Given the description of an element on the screen output the (x, y) to click on. 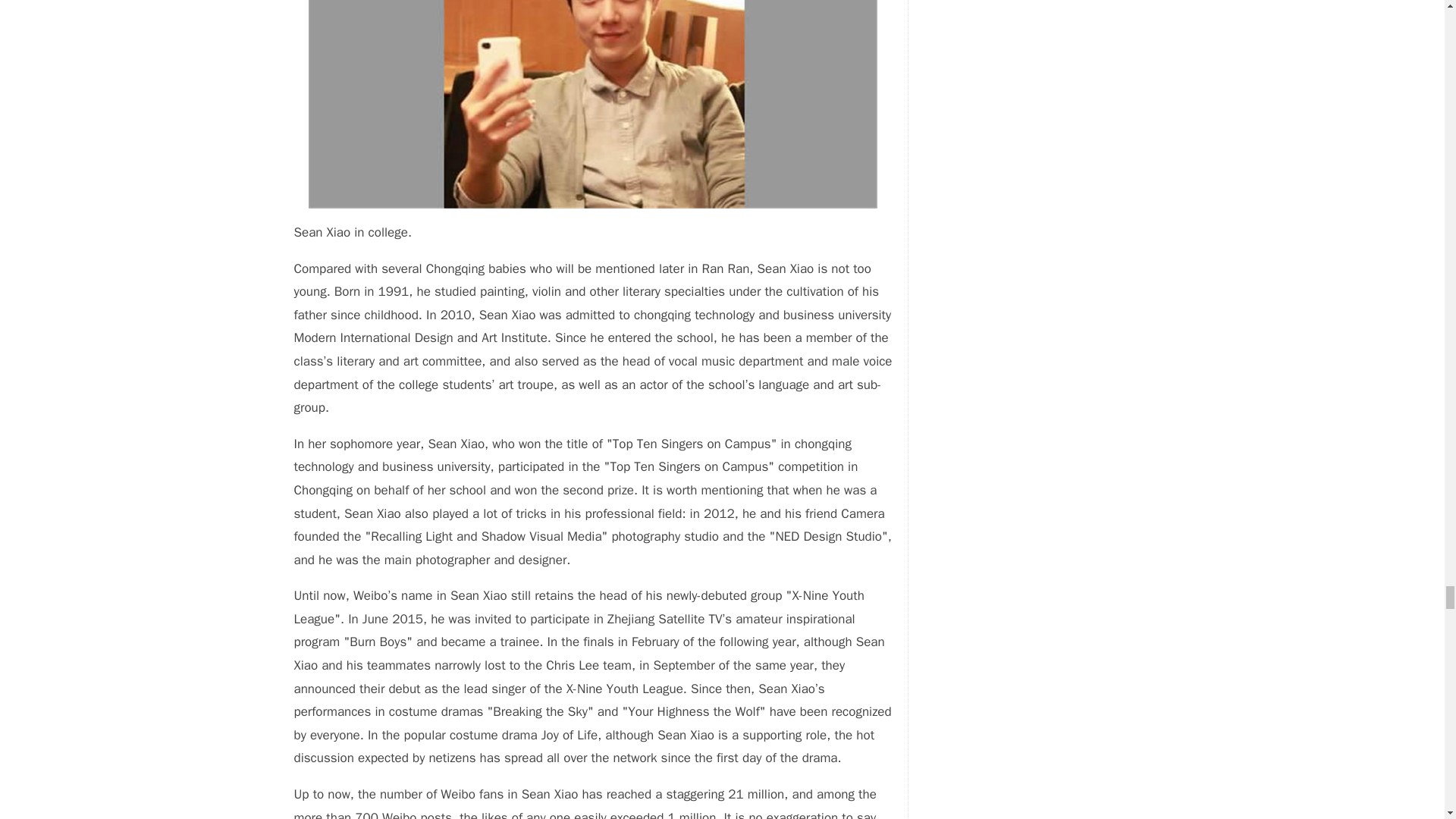
79de745128f8971f3e7fade5ef43e217.jpg (592, 104)
